Given the description of an element on the screen output the (x, y) to click on. 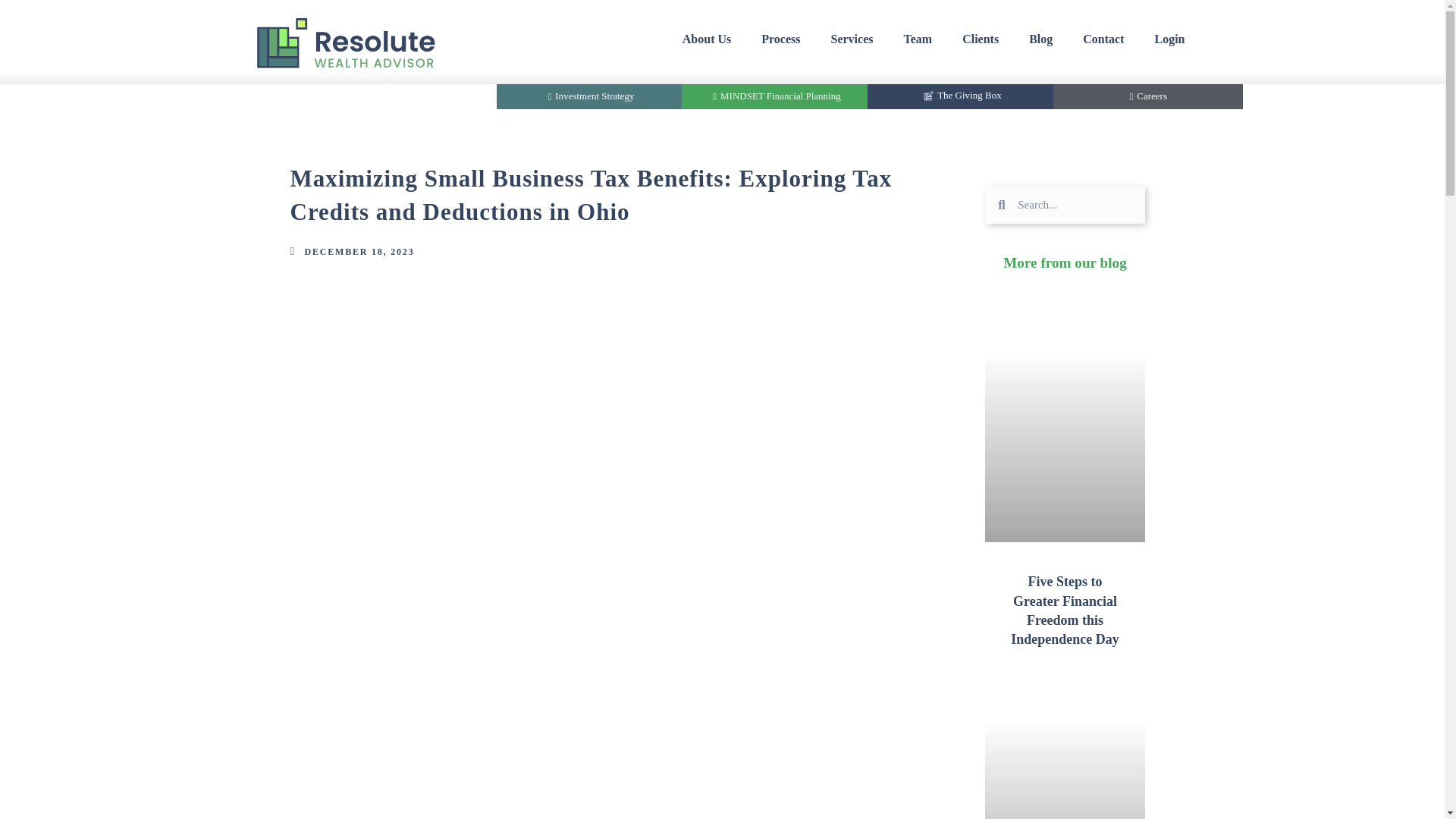
Team (917, 39)
Services (851, 39)
Login (1168, 39)
Clients (980, 39)
Process (780, 39)
About Us (705, 39)
Contact (1102, 39)
Blog (1040, 39)
